Given the description of an element on the screen output the (x, y) to click on. 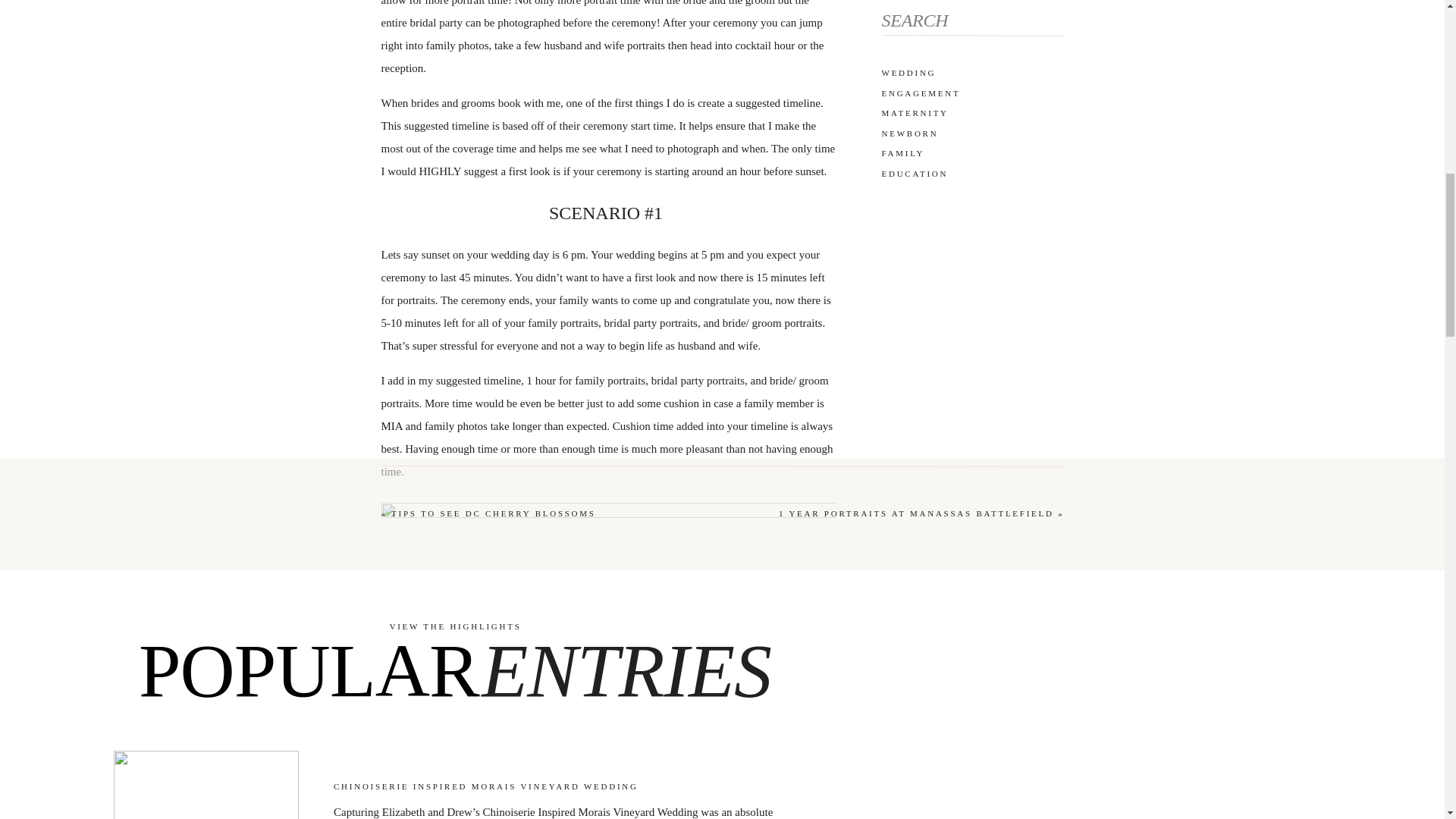
Chinoiserie Inspired Morais Vineyard Wedding (205, 785)
WEDDING (972, 70)
FAMILY (972, 151)
NEWBORN (972, 131)
TIPS TO SEE DC CHERRY BLOSSOMS (493, 512)
MATERNITY (972, 110)
ENGAGEMENT (972, 91)
1 YEAR PORTRAITS AT MANASSAS BATTLEFIELD (916, 512)
CHINOISERIE INSPIRED MORAIS VINEYARD WEDDING (486, 786)
EDUCATION (972, 171)
